Given the description of an element on the screen output the (x, y) to click on. 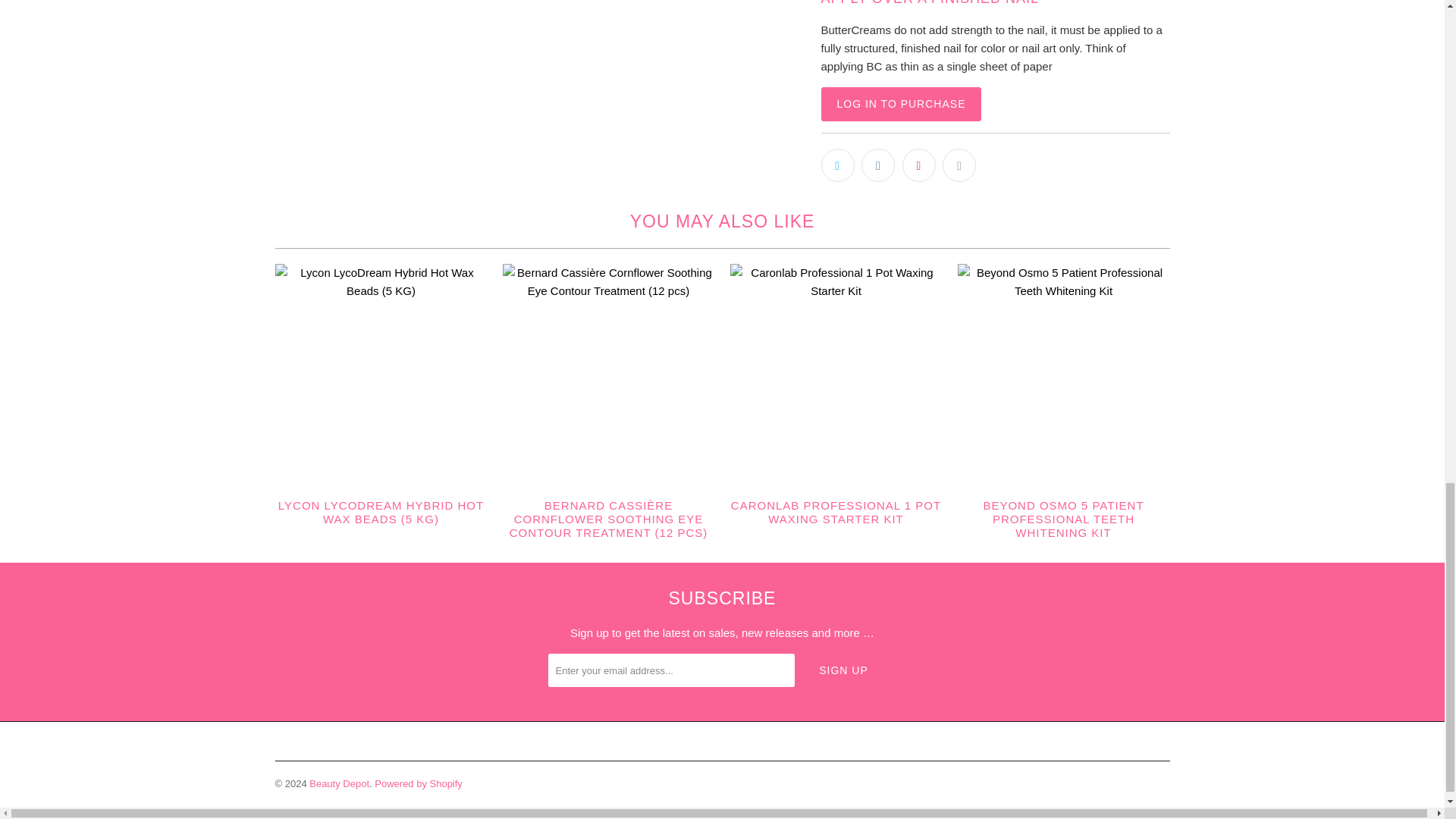
Sign Up (842, 670)
Share this on Twitter (837, 164)
Share this on Pinterest (919, 164)
Share this on Facebook (878, 164)
Email this to a friend (958, 164)
